Given the description of an element on the screen output the (x, y) to click on. 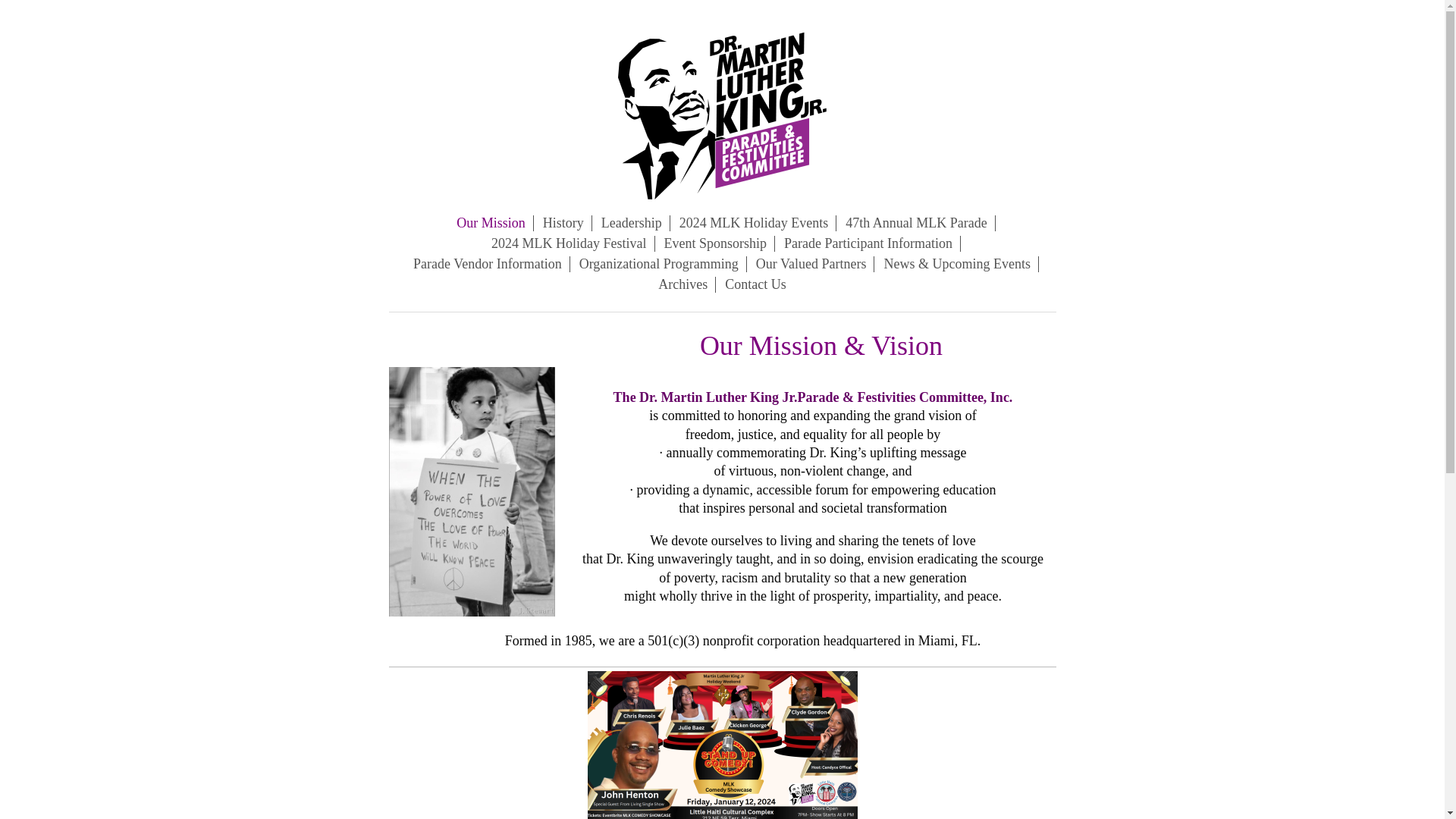
Our Mission (491, 222)
Contact Us (755, 284)
Our Valued Partners (811, 263)
Leadership (631, 222)
2024 MLK Holiday Festival (569, 243)
Event Sponsorship (716, 243)
History (563, 222)
Archives (683, 284)
Parade Vendor Information (488, 263)
Organizational Programming (659, 263)
2024 MLK Holiday Events (753, 222)
Parade Participant Information (868, 243)
47th Annual MLK Parade (916, 222)
